Given the description of an element on the screen output the (x, y) to click on. 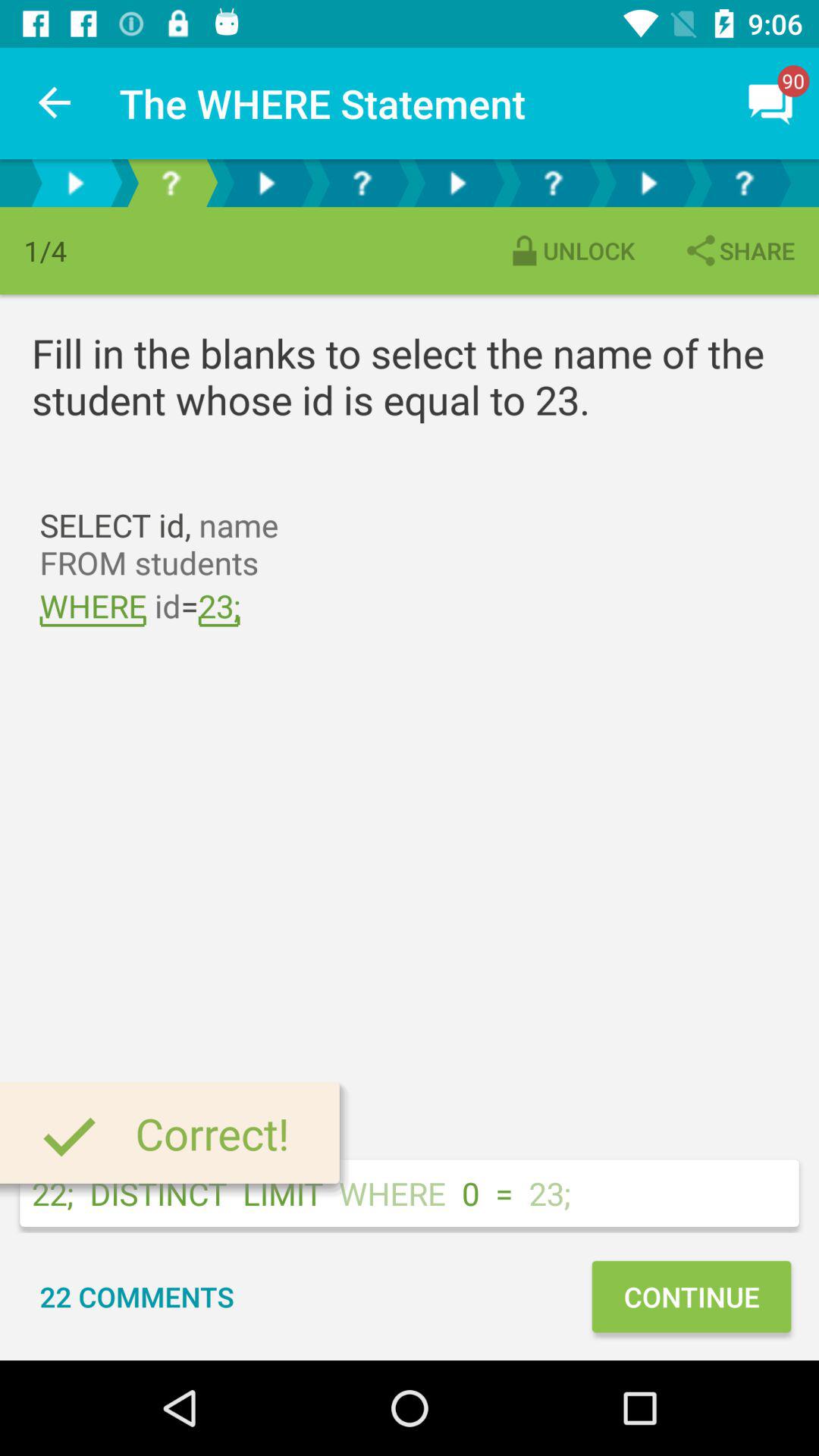
to watch video lesson for the next phase (265, 183)
